Given the description of an element on the screen output the (x, y) to click on. 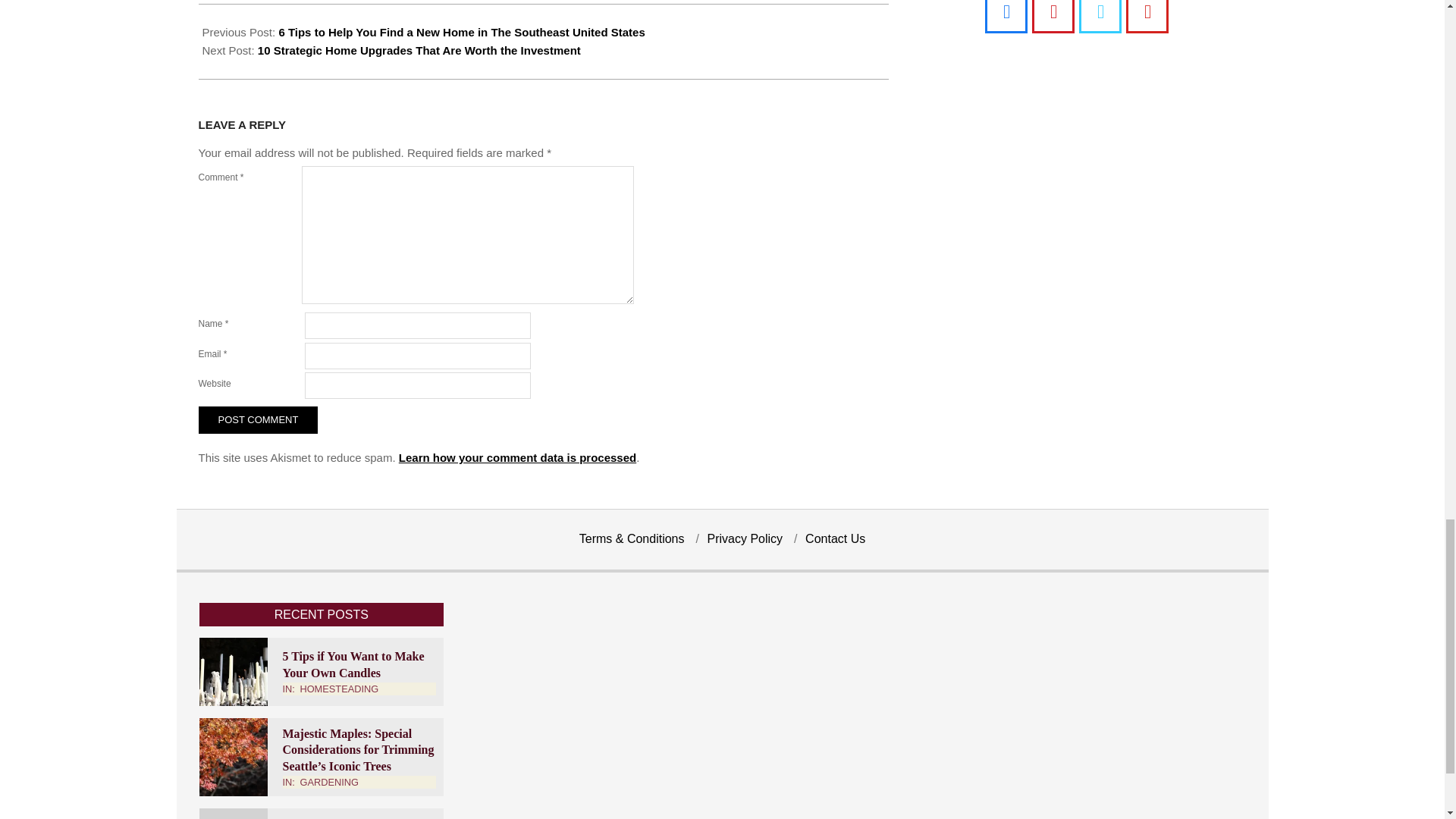
10 Strategic Home Upgrades That Are Worth the Investment (418, 50)
Learn how your comment data is processed (517, 457)
Post Comment (258, 420)
Post Comment (258, 420)
